Given the description of an element on the screen output the (x, y) to click on. 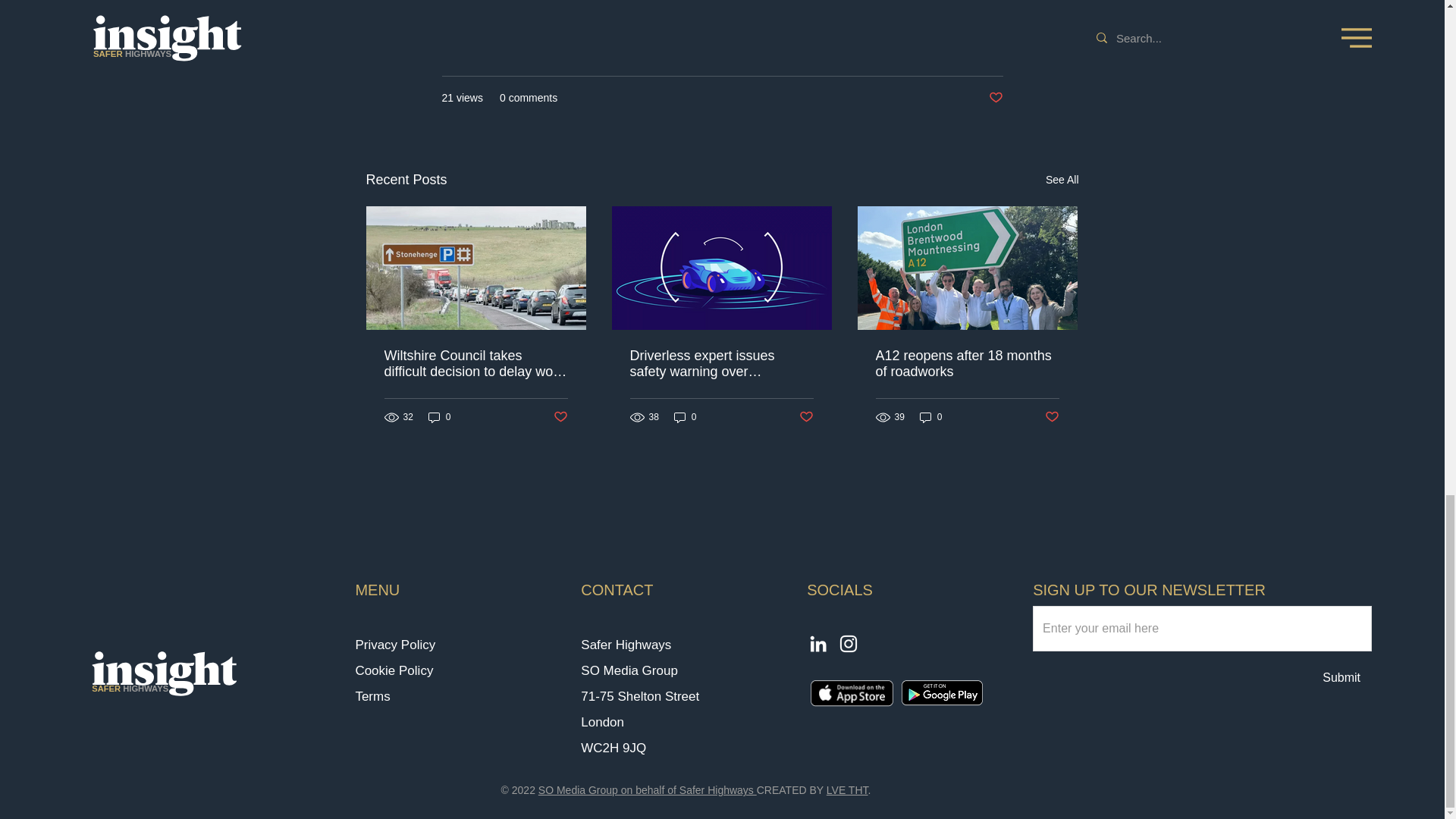
SO Media Group on behalf of Safer Highways  (647, 789)
Post not marked as liked (1052, 417)
Post not marked as liked (560, 417)
0 (930, 417)
0 (439, 417)
A12 reopens after 18 months of roadworks (966, 364)
LVE THT (847, 789)
Post not marked as liked (164, 673)
